Given the description of an element on the screen output the (x, y) to click on. 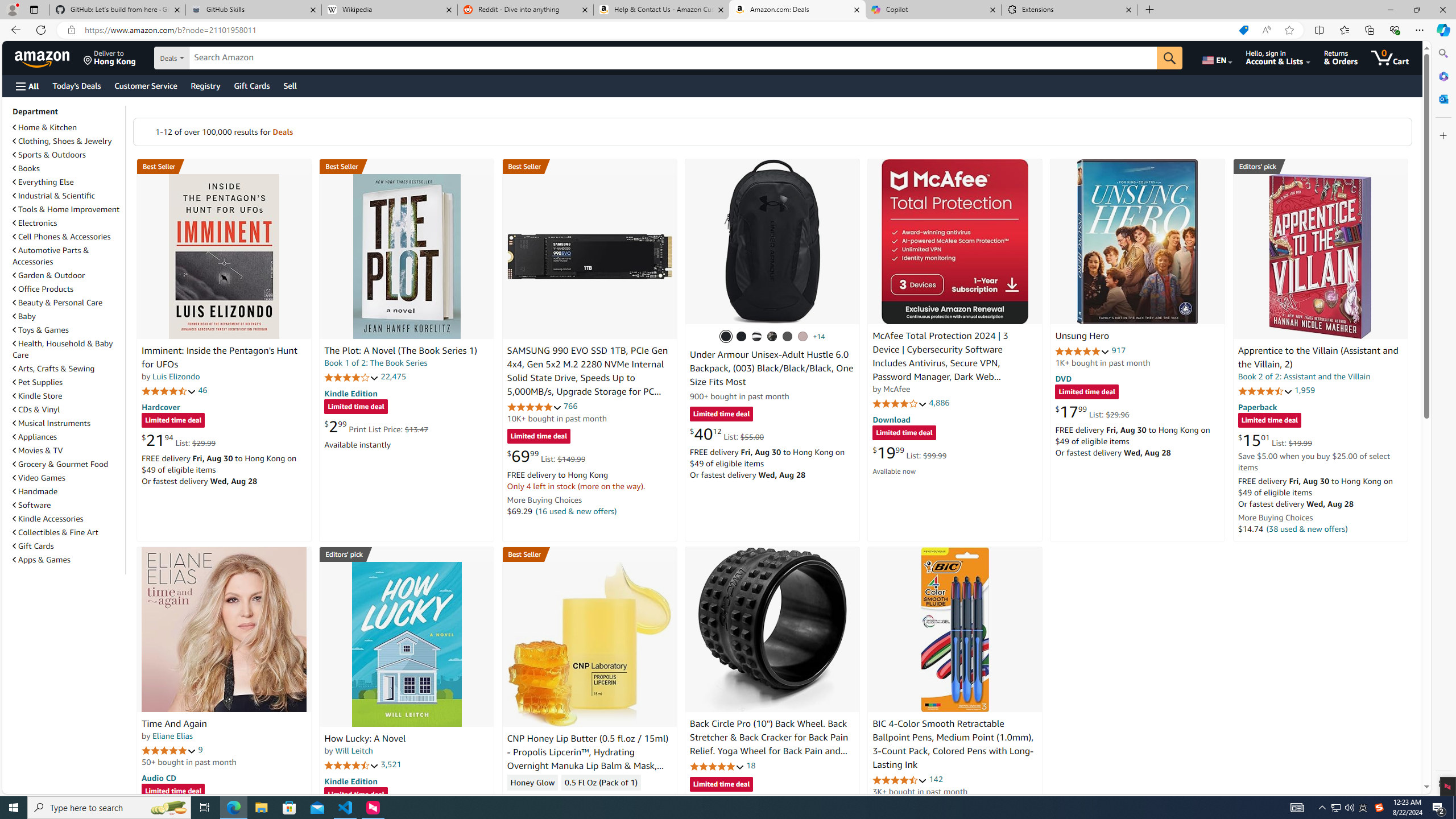
Everything Else (43, 181)
(001) Black / Black / Metallic Gold (741, 336)
Sports & Outdoors (49, 154)
Video Games (39, 477)
Musical Instruments (51, 422)
Search Amazon (673, 57)
Software (67, 505)
The Plot: A Novel (The Book Series 1) (400, 351)
Cell Phones & Accessories (67, 236)
917 (1117, 350)
Time And Again (224, 628)
Best Seller in Lip Butters (589, 553)
Kindle Store (67, 395)
Electronics (34, 222)
$15.01 List: $19.99 (1274, 439)
